Given the description of an element on the screen output the (x, y) to click on. 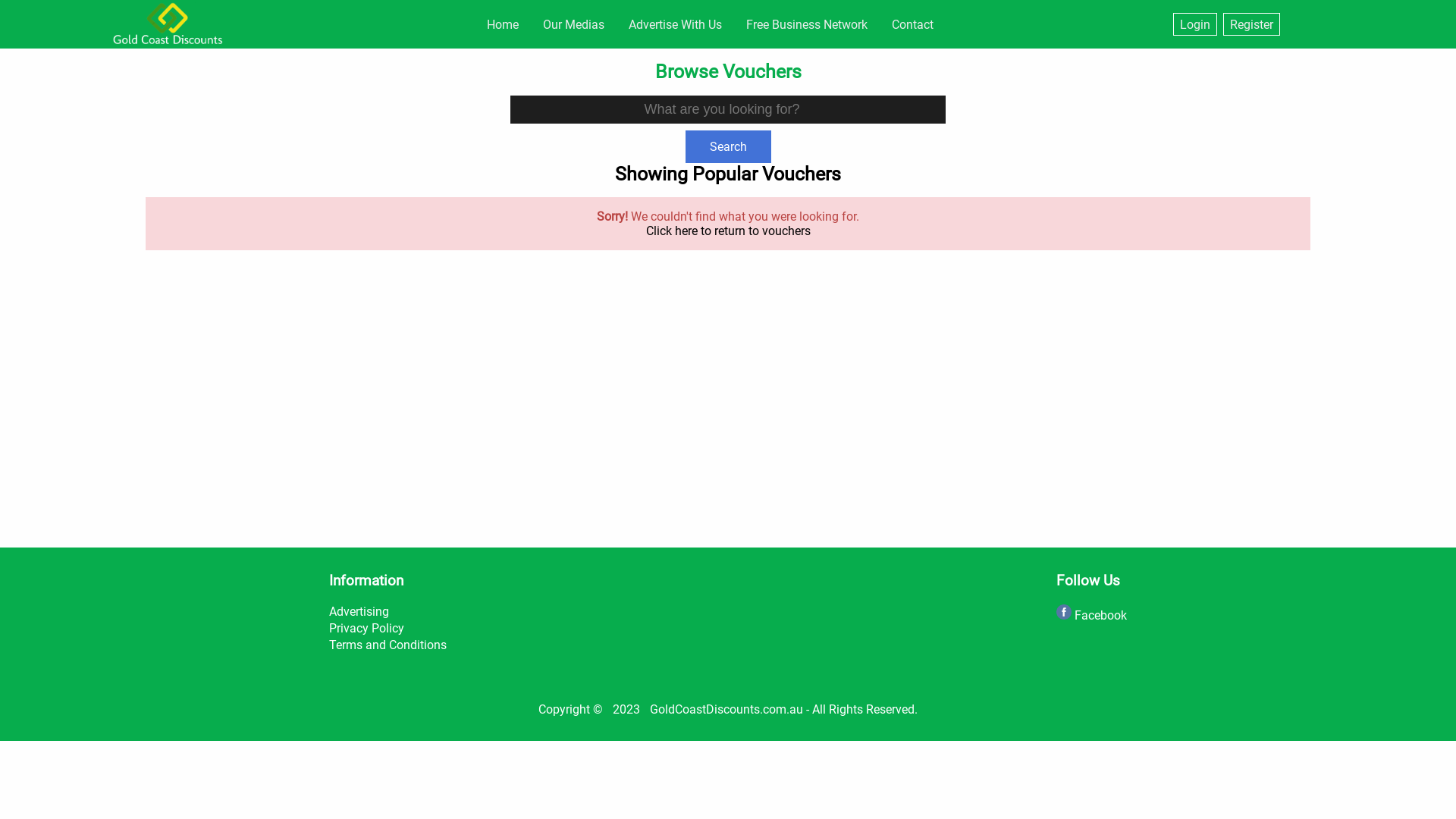
Free Business Network Element type: text (806, 23)
Login Element type: text (1195, 24)
Privacy Policy Element type: text (366, 628)
Click here to return to vouchers Element type: text (728, 230)
Advertise With Us Element type: text (675, 23)
Advertising Element type: text (359, 611)
Register Element type: text (1251, 24)
Contact Element type: text (912, 23)
Facebook Element type: text (1091, 615)
Home Element type: text (502, 23)
Our Medias Element type: text (573, 23)
Terms and Conditions Element type: text (387, 644)
Search Element type: text (728, 146)
